Given the description of an element on the screen output the (x, y) to click on. 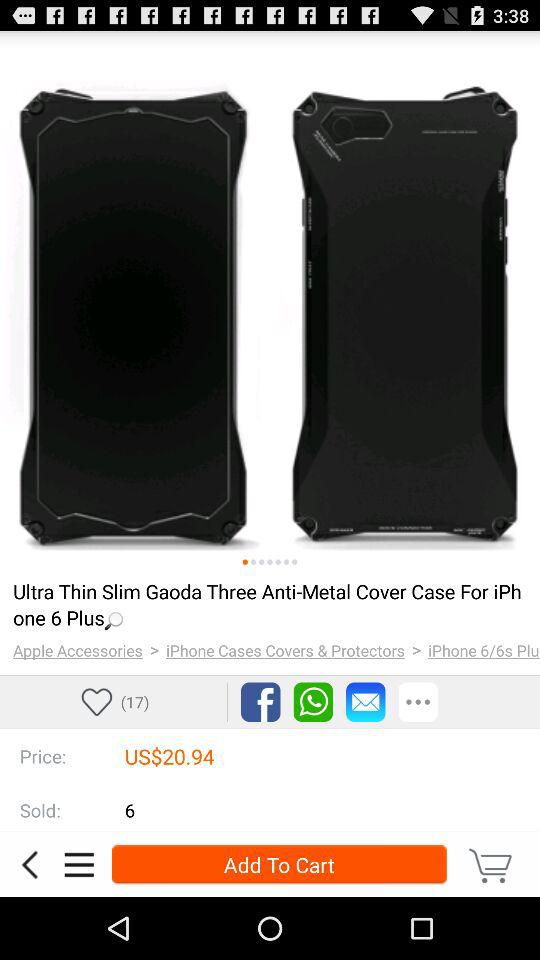
jump until iphone cases covers item (285, 650)
